Given the description of an element on the screen output the (x, y) to click on. 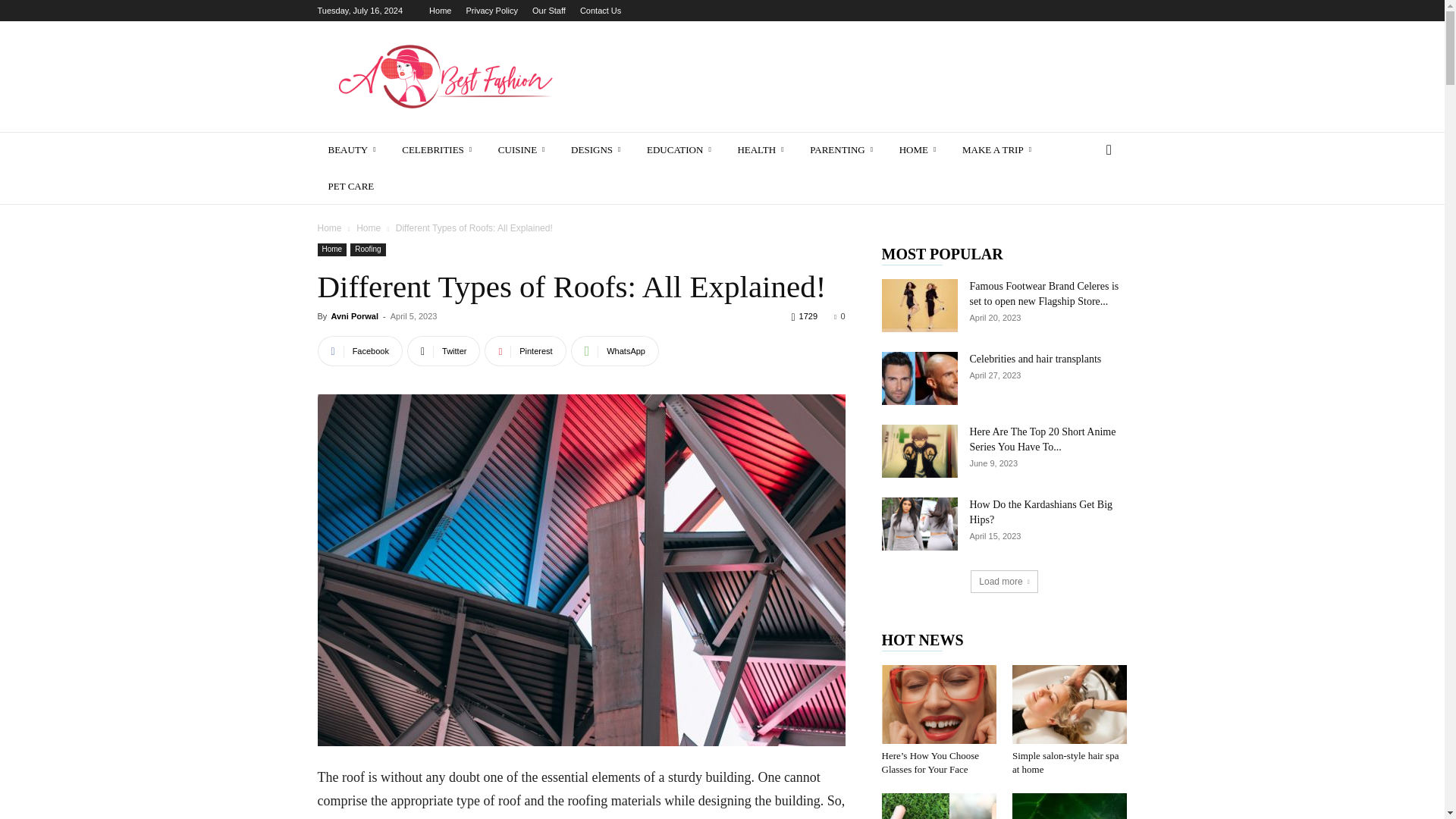
View all posts in Home (368, 227)
WhatsApp (614, 350)
Twitter (443, 350)
Facebook (359, 350)
Advertisement (850, 76)
Pinterest (525, 350)
